Given the description of an element on the screen output the (x, y) to click on. 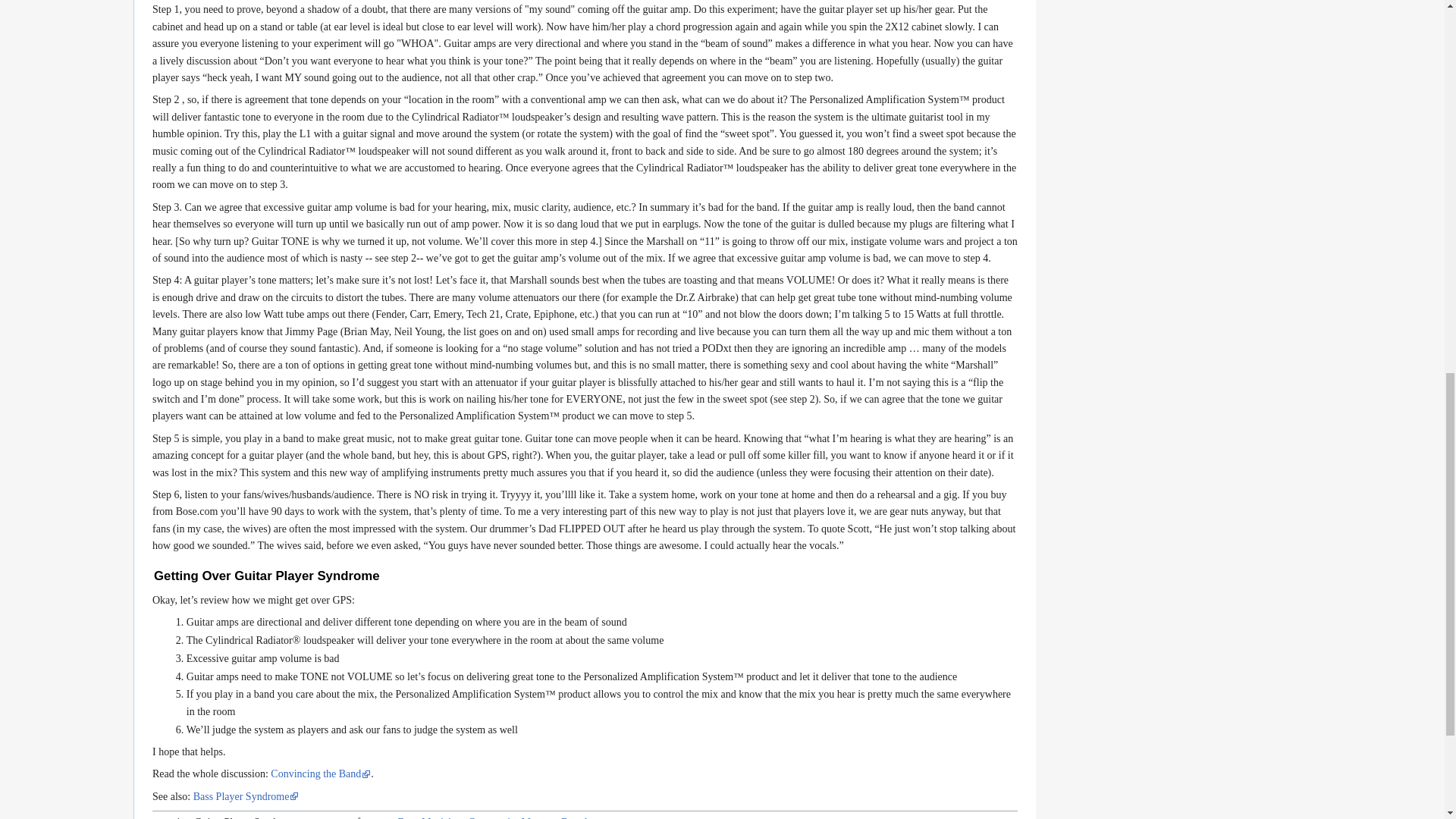
Convincing the Band (320, 773)
Bass Player Syndrome (246, 796)
Bose Musicians Community Message Board (496, 817)
